Given the description of an element on the screen output the (x, y) to click on. 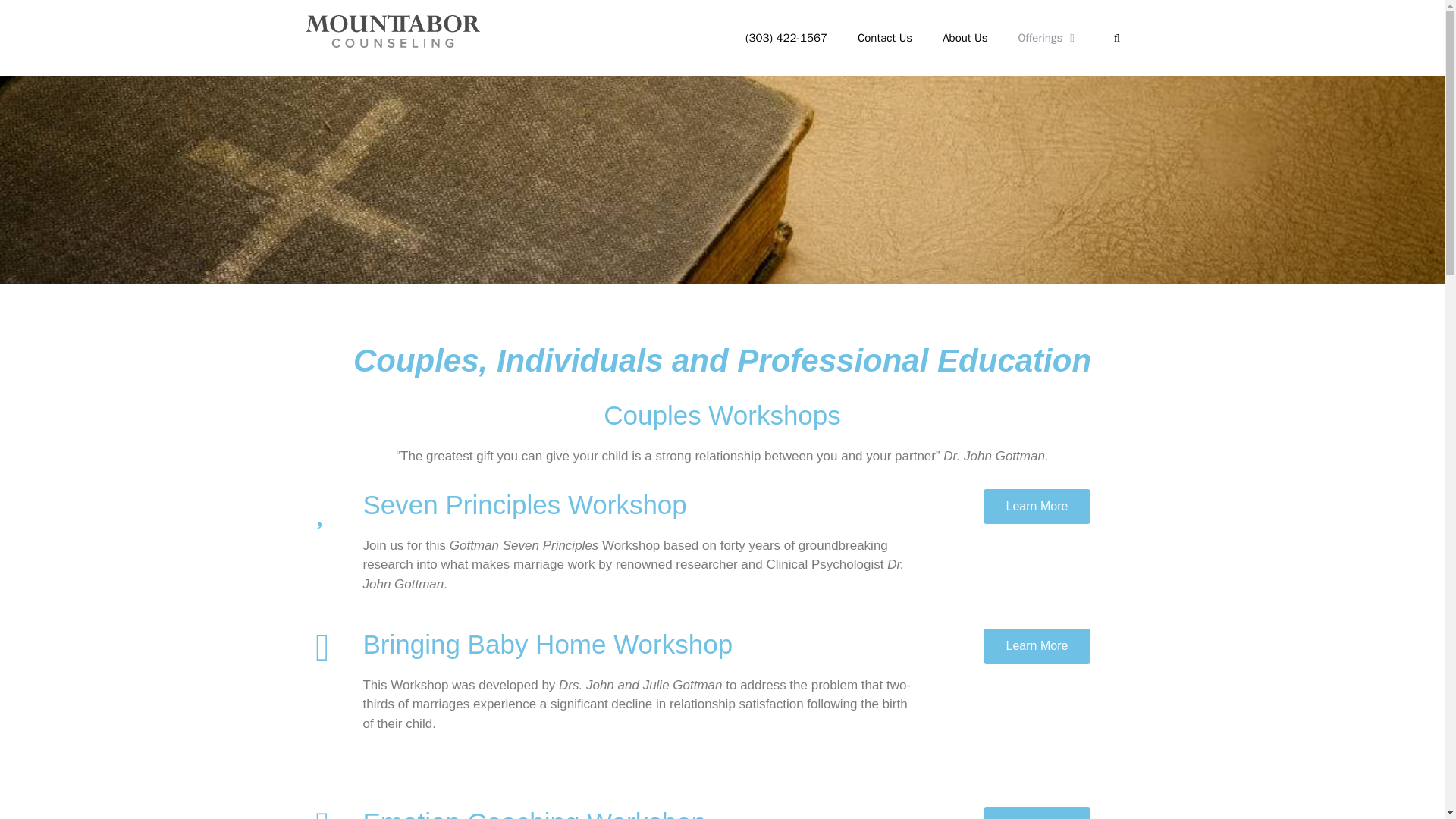
Seven Principles Workshop (523, 504)
Emotion Coaching Workshop (534, 812)
Contact Us (885, 37)
Learn More (1037, 812)
Bringing Baby Home Workshop (547, 644)
About Us (965, 37)
Learn More (1037, 505)
Learn More (1037, 645)
Offerings (1048, 37)
